Given the description of an element on the screen output the (x, y) to click on. 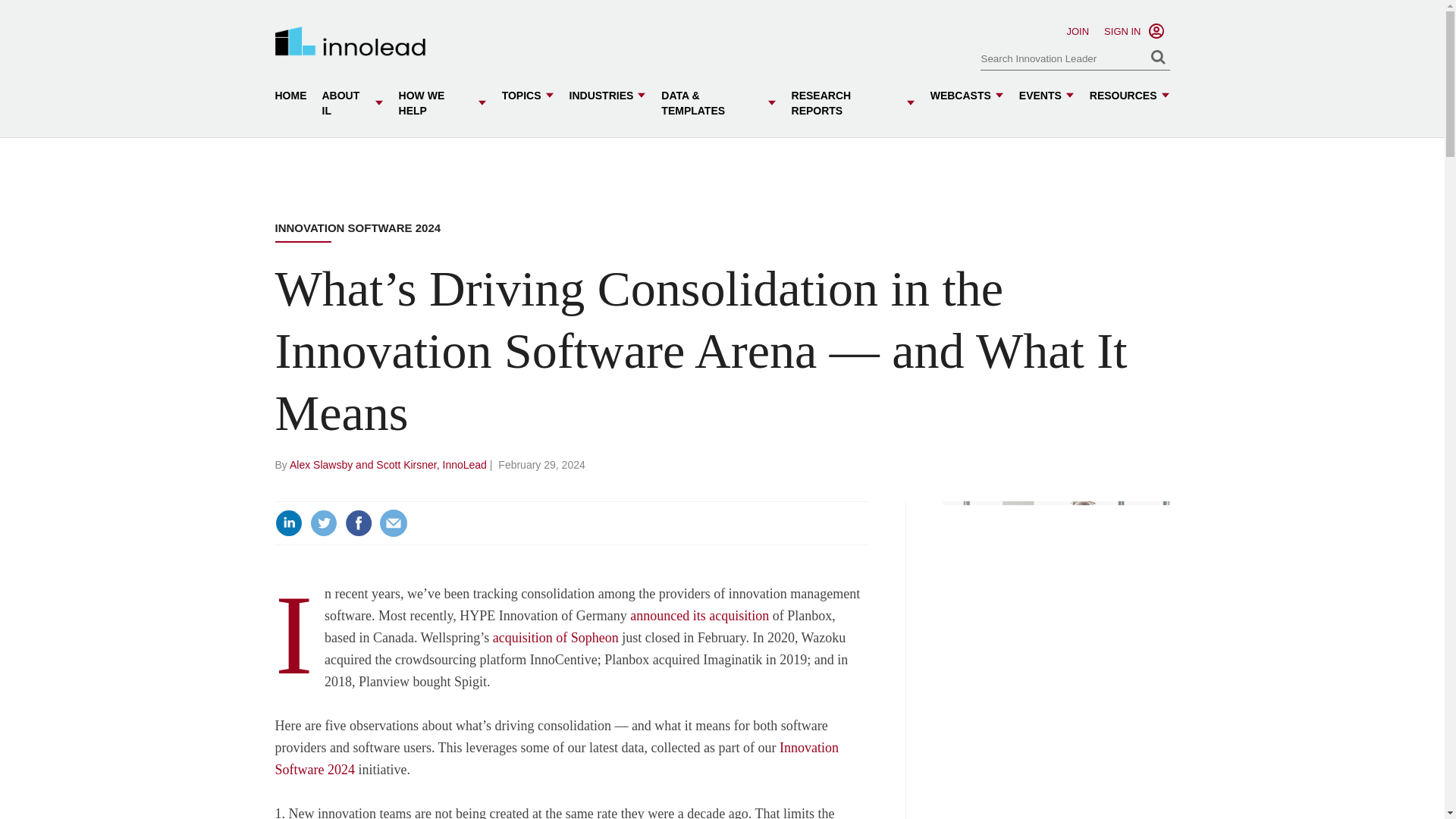
Twitter (322, 523)
TOPICS (528, 96)
HOW WE HELP (442, 103)
SIGN IN (1121, 30)
Email (392, 523)
Facebook (357, 523)
JOIN (1077, 30)
ABOUT IL (351, 103)
HOME (290, 96)
LinkedIn (288, 523)
